Given the description of an element on the screen output the (x, y) to click on. 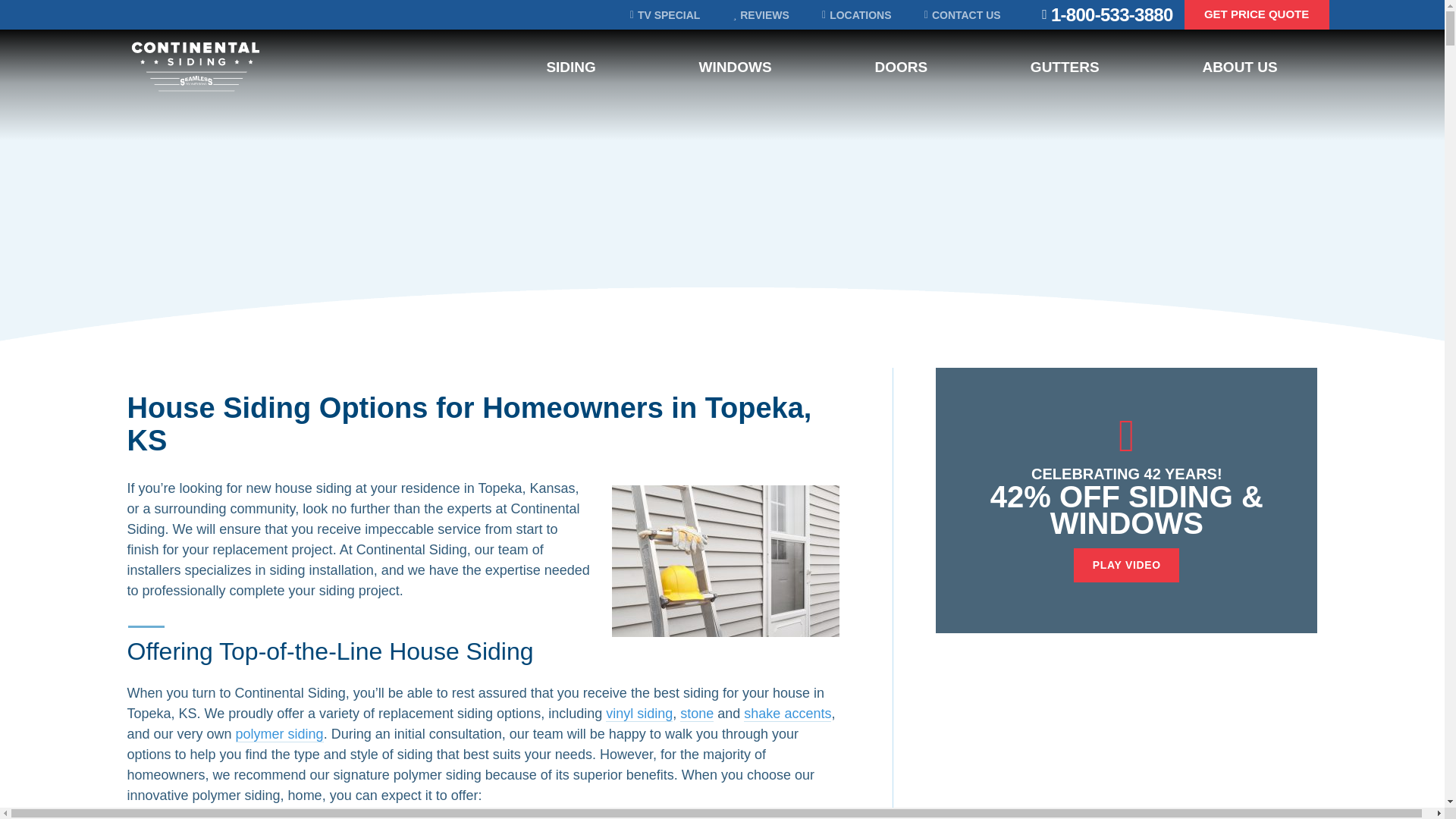
SIDING (570, 66)
TV SPECIAL (665, 14)
DOORS (900, 66)
CONTACT US (962, 14)
LOCATIONS (857, 14)
GET PRICE QUOTE (1257, 14)
Get Price Quote (1259, 818)
House Siding Topeka KS (725, 561)
1-800-533-3880 (1112, 14)
WINDOWS (734, 66)
